Given the description of an element on the screen output the (x, y) to click on. 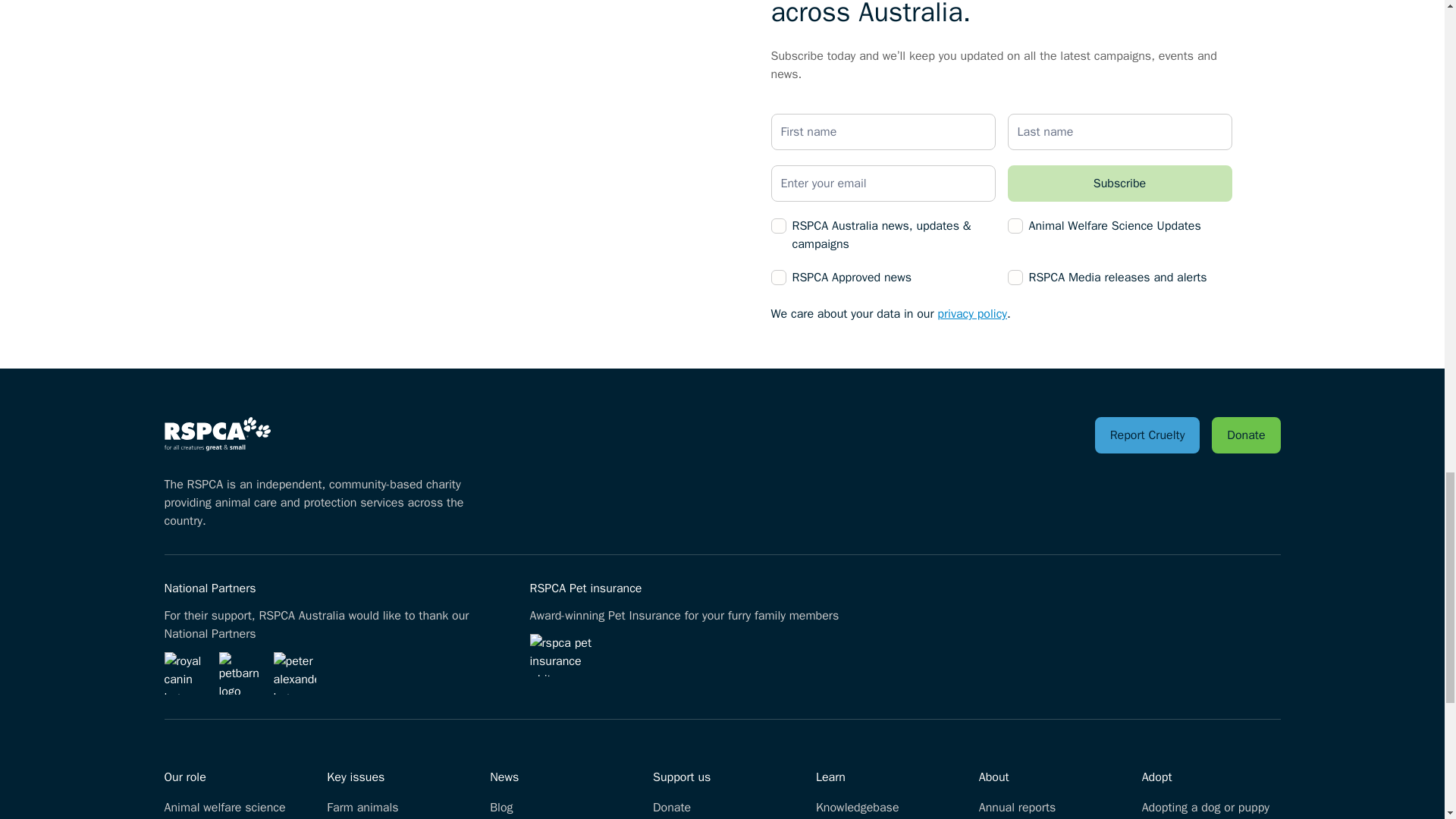
Peter Alexander (294, 672)
Award-winning Pet Insurance for your furry family members (564, 654)
Royal Canin (184, 672)
Subscribe (1119, 183)
Petbarn (239, 672)
